Given the description of an element on the screen output the (x, y) to click on. 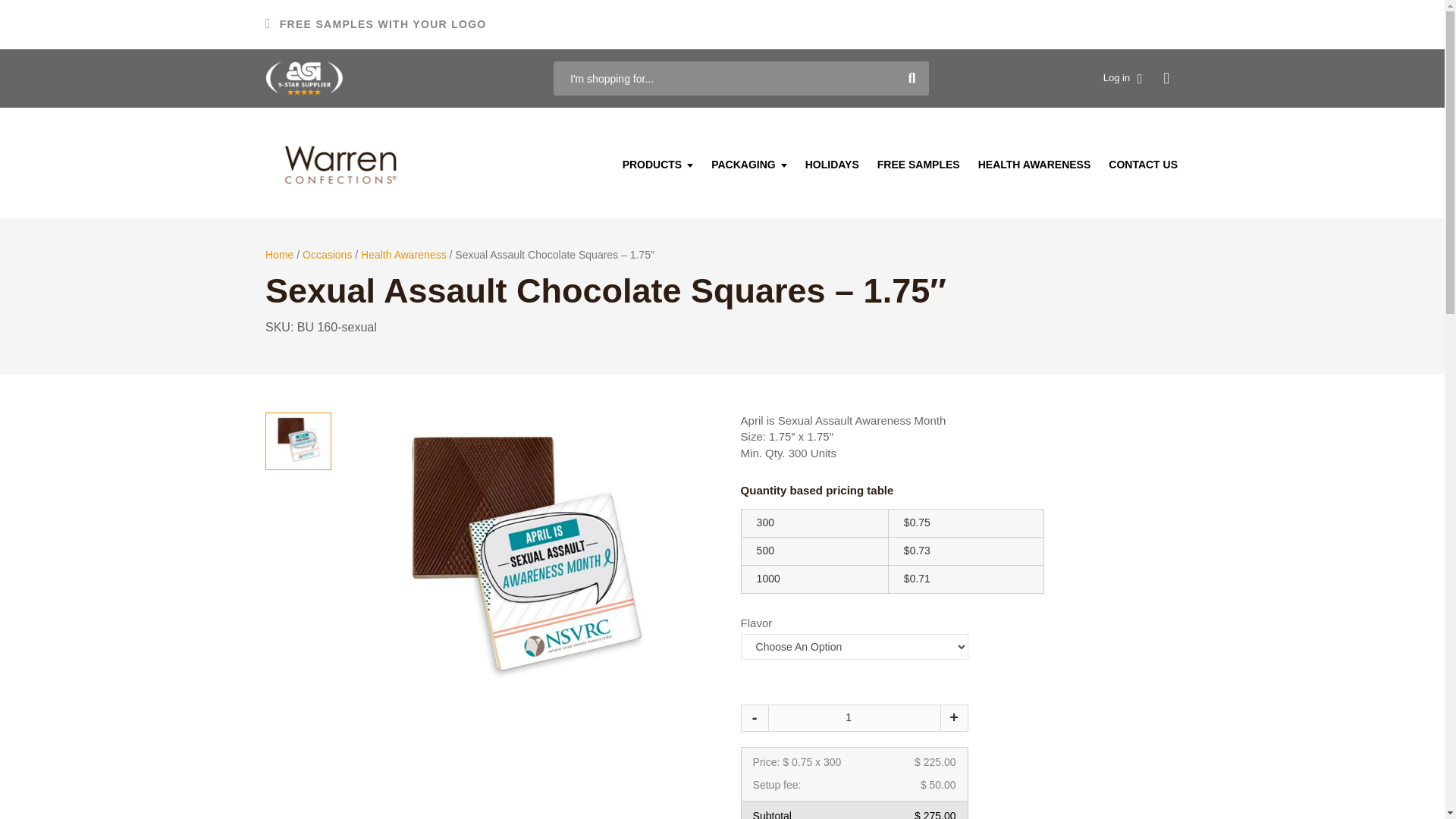
Health Awareness (403, 254)
Cart (1165, 78)
FREE SAMPLES (918, 164)
Log in (1123, 78)
Log in (1123, 78)
CONTACT US (1142, 164)
FREE SAMPLES WITH YOUR LOGO (375, 24)
Home (279, 254)
PACKAGING (748, 164)
Occasions (327, 254)
HOLIDAYS (831, 164)
Search (911, 78)
HEALTH AWARENESS (1034, 164)
PRODUCTS (657, 164)
1 (854, 718)
